Given the description of an element on the screen output the (x, y) to click on. 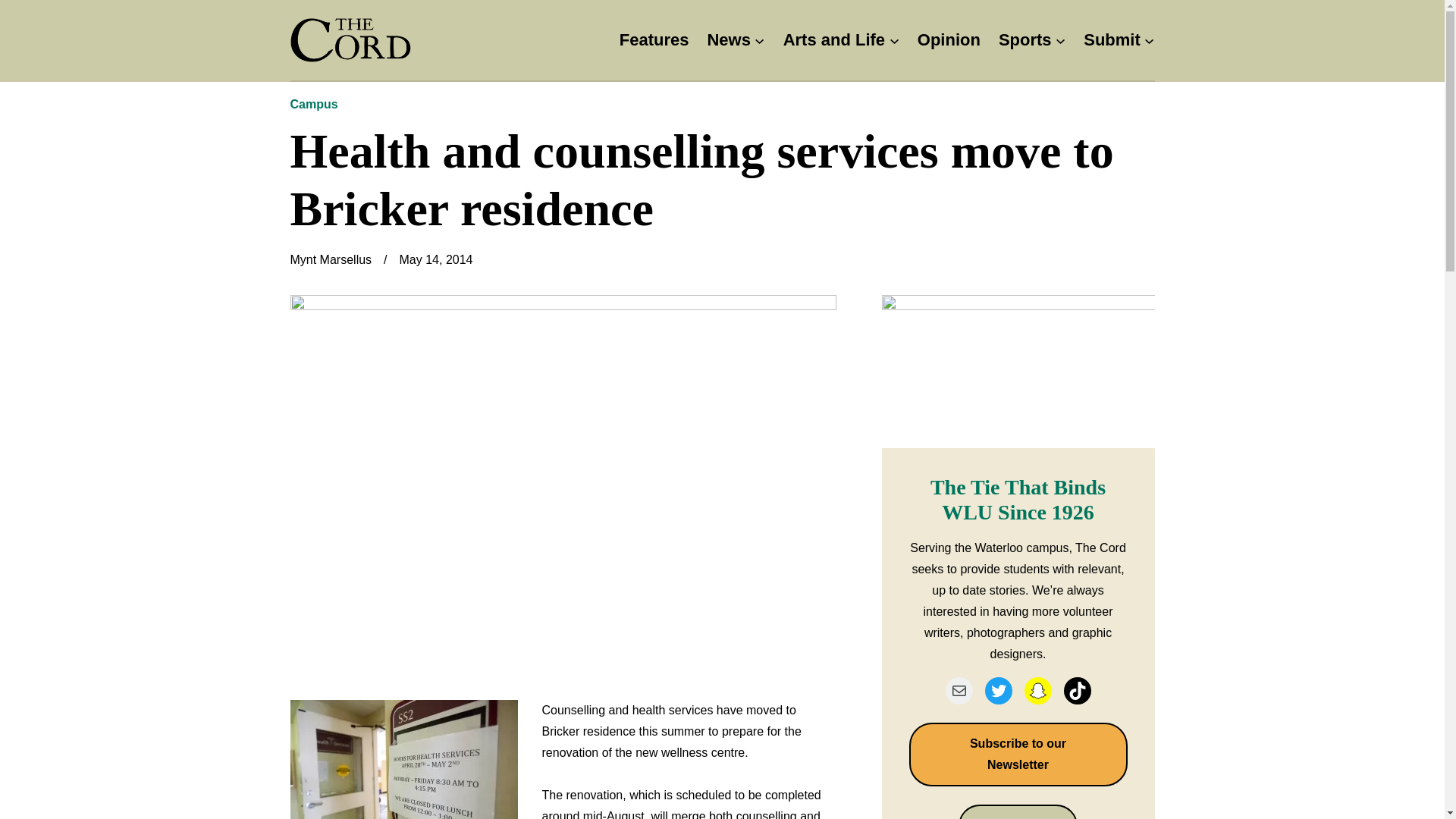
Features (654, 40)
Arts and Life (834, 40)
News (727, 40)
Opinion (948, 40)
Submit (1111, 40)
Campus (313, 103)
Sports (1024, 40)
